Given the description of an element on the screen output the (x, y) to click on. 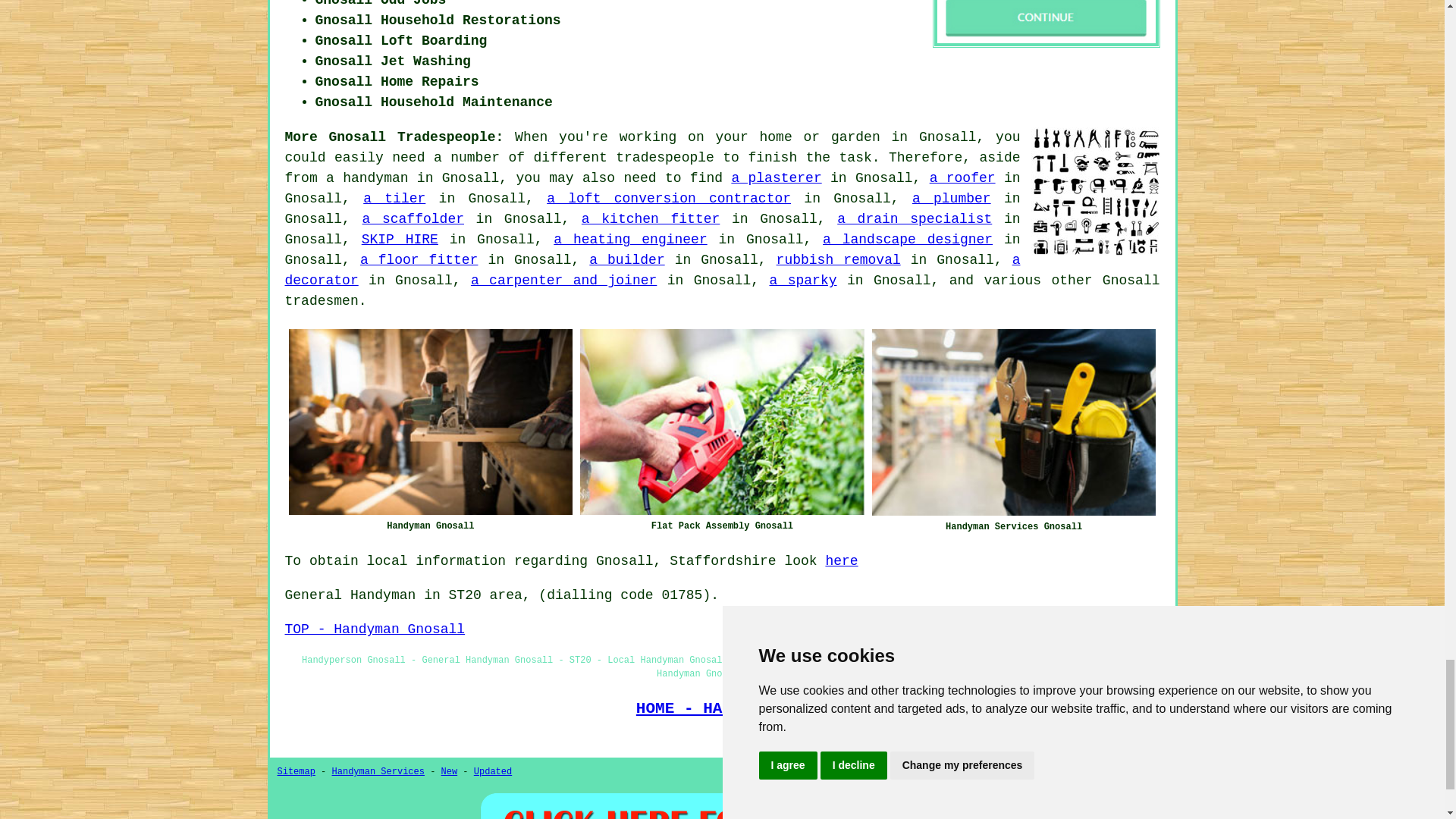
Handyman Gnosall (430, 422)
Handyman Services Gnosall (1014, 422)
Contact a Handyman in Gnosall (1046, 21)
More Gnosall Tradesmen (1095, 191)
Flat Pack Assembly Gnosall (721, 422)
